Given the description of an element on the screen output the (x, y) to click on. 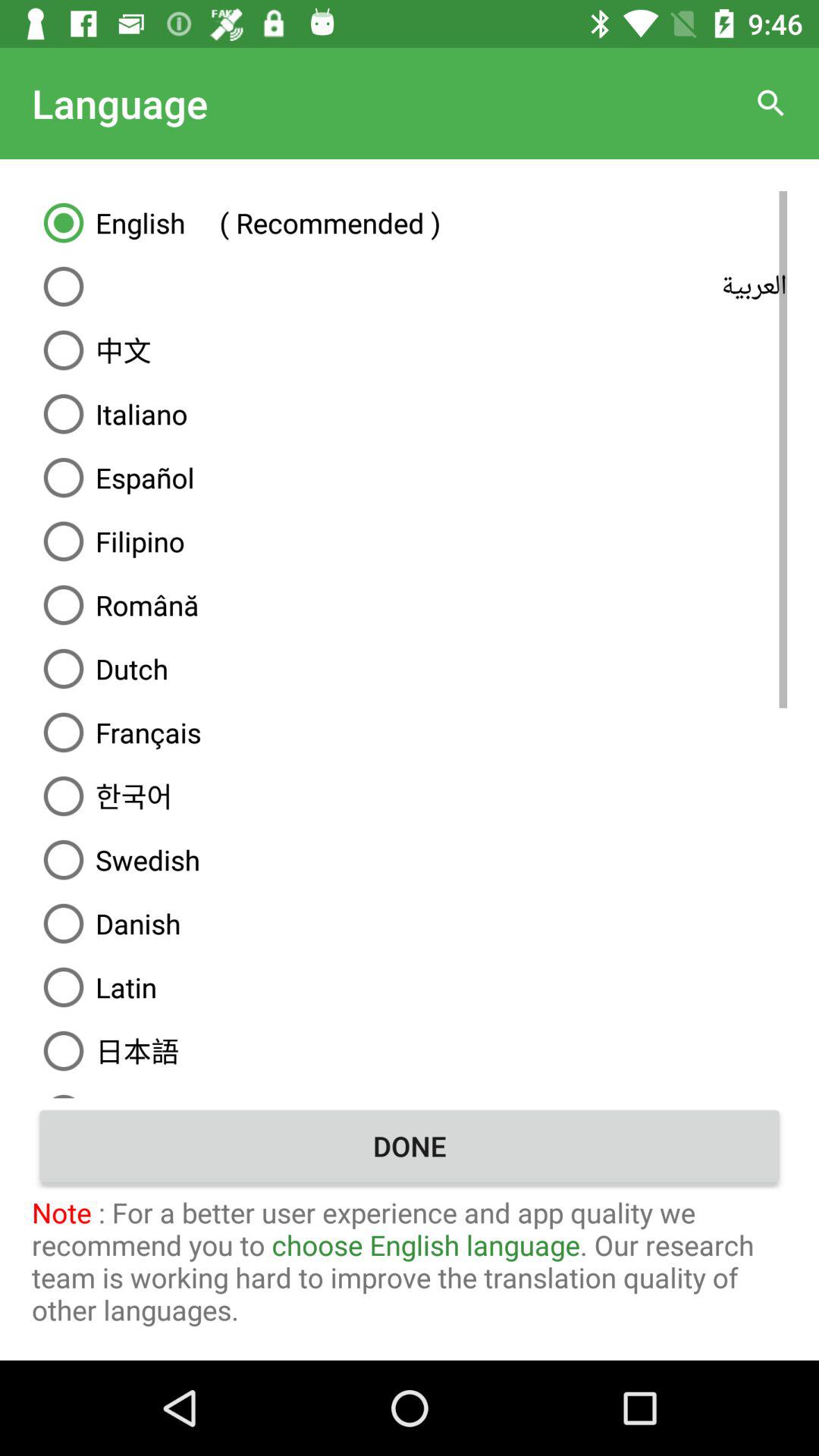
tap the item above the latin (409, 923)
